Given the description of an element on the screen output the (x, y) to click on. 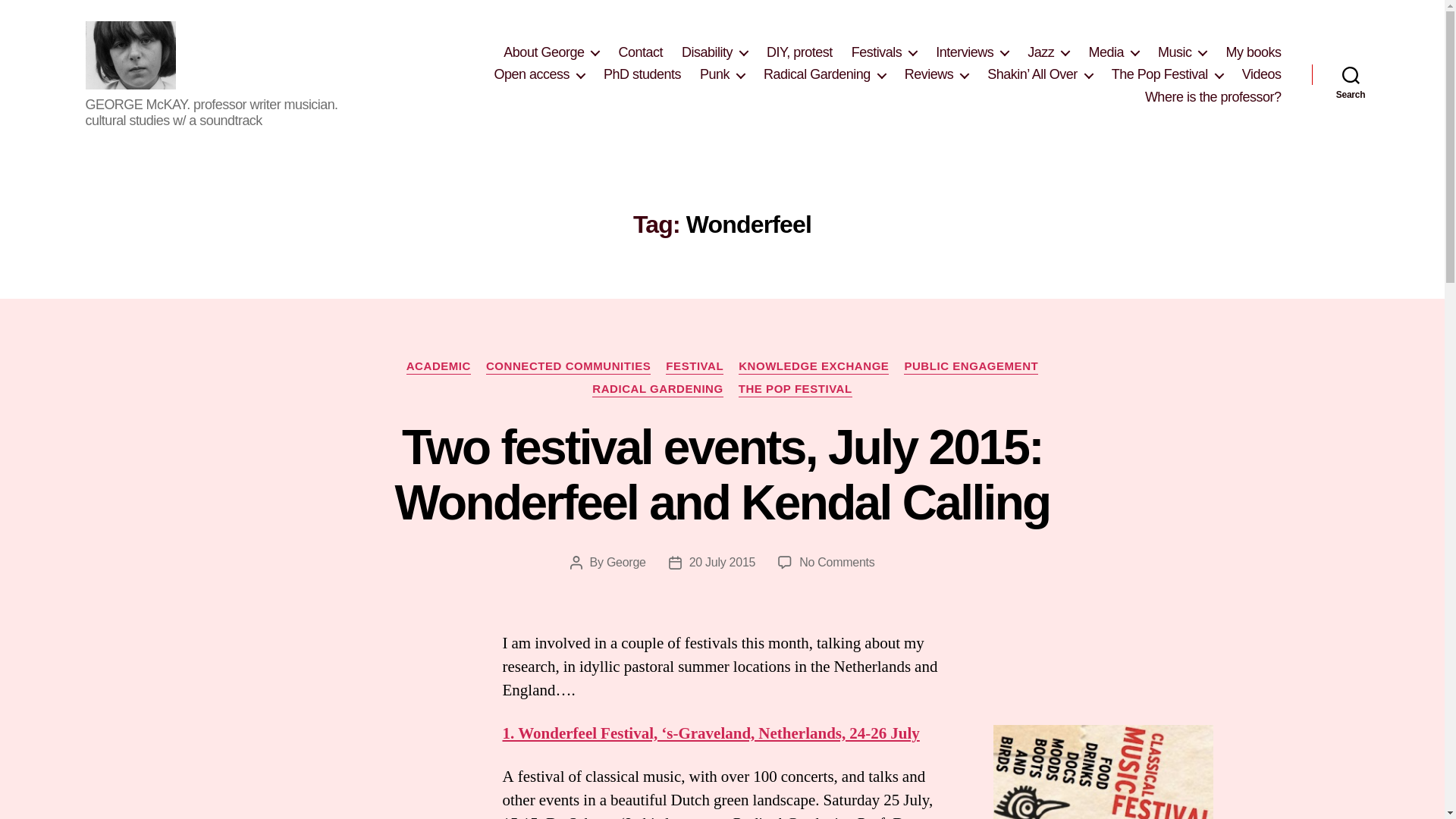
DIY, protest (799, 53)
Festivals (884, 53)
Jazz (1047, 53)
About George (550, 53)
Interviews (972, 53)
Contact (639, 53)
Disability (714, 53)
